Given the description of an element on the screen output the (x, y) to click on. 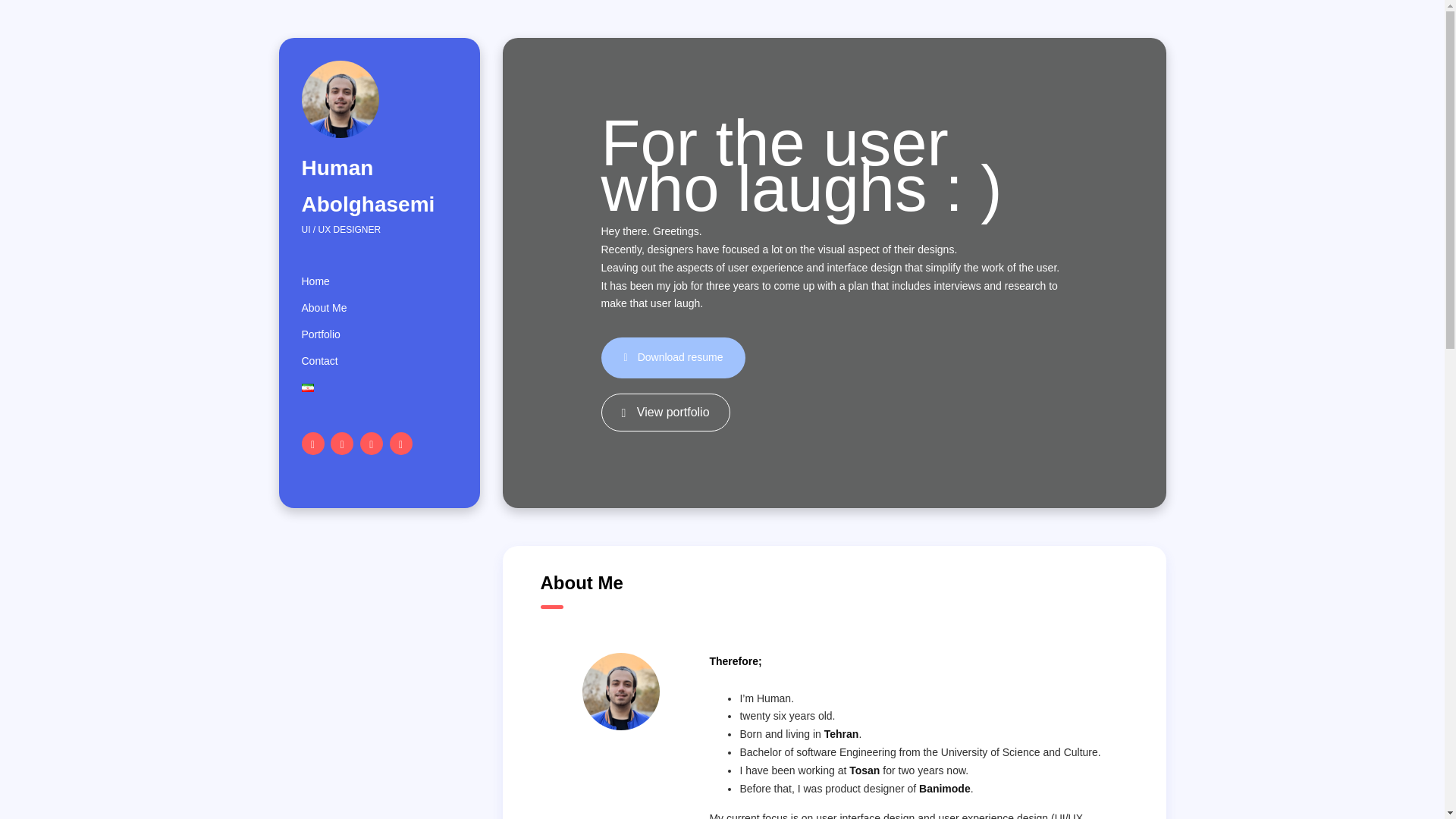
Portfolio (320, 334)
Download resume (672, 357)
Home (315, 281)
About Me (324, 307)
Contact (319, 361)
Human Abolghasemi (379, 185)
View portfolio (664, 412)
